Given the description of an element on the screen output the (x, y) to click on. 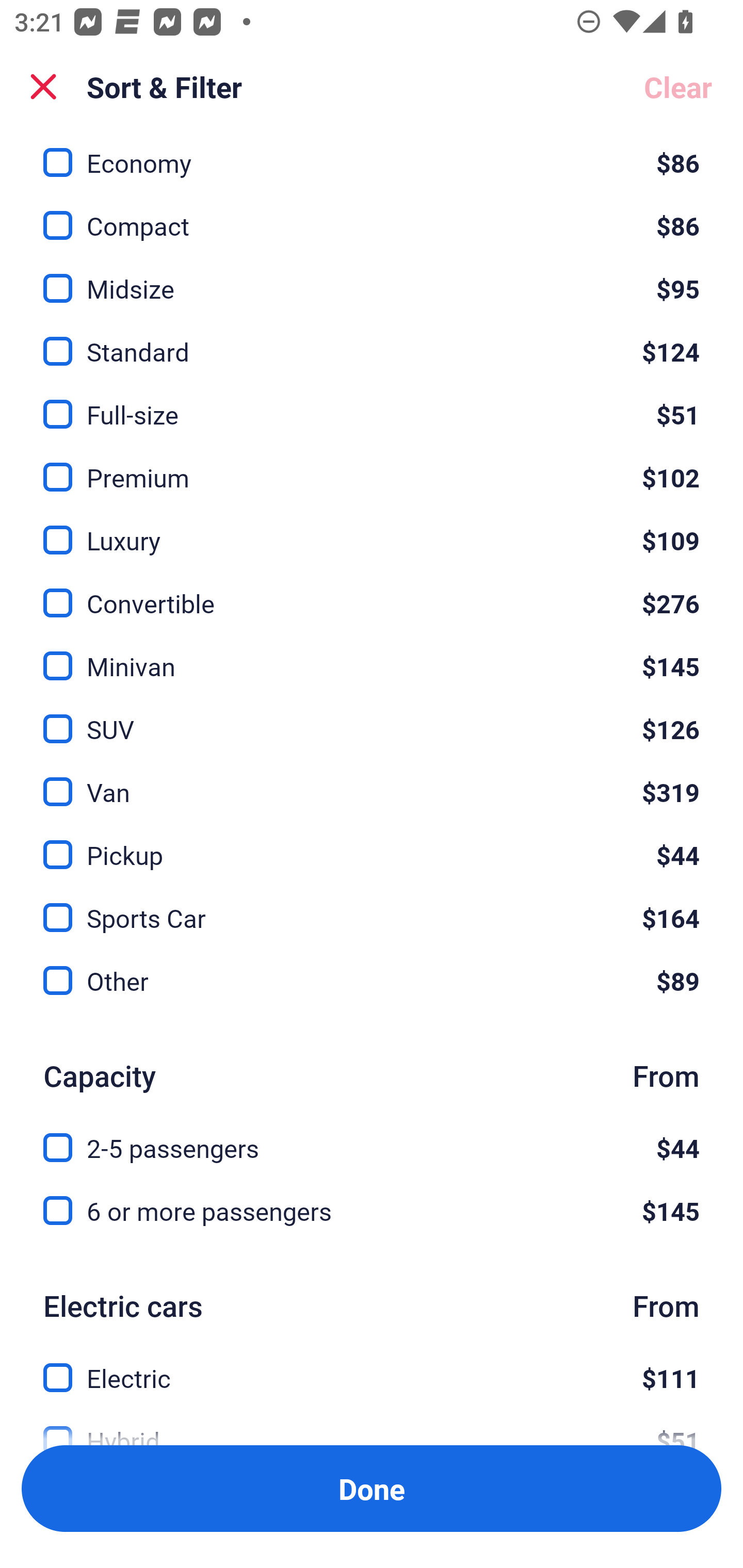
Close Sort and Filter (43, 86)
Clear (677, 86)
Economy, $86 Economy $86 (371, 155)
Compact, $86 Compact $86 (371, 213)
Midsize, $95 Midsize $95 (371, 277)
Standard, $124 Standard $124 (371, 339)
Full-size, $51 Full-size $51 (371, 402)
Premium, $102 Premium $102 (371, 465)
Luxury, $109 Luxury $109 (371, 528)
Convertible, $276 Convertible $276 (371, 590)
Minivan, $145 Minivan $145 (371, 654)
SUV, $126 SUV $126 (371, 717)
Van, $319 Van $319 (371, 780)
Pickup, $44 Pickup $44 (371, 843)
Sports Car, $164 Sports Car $164 (371, 905)
Other, $89 Other $89 (371, 980)
2-5 passengers, $44 2-5 passengers $44 (371, 1136)
Electric, $111 Electric $111 (371, 1365)
Apply and close Sort and Filter Done (371, 1488)
